Given the description of an element on the screen output the (x, y) to click on. 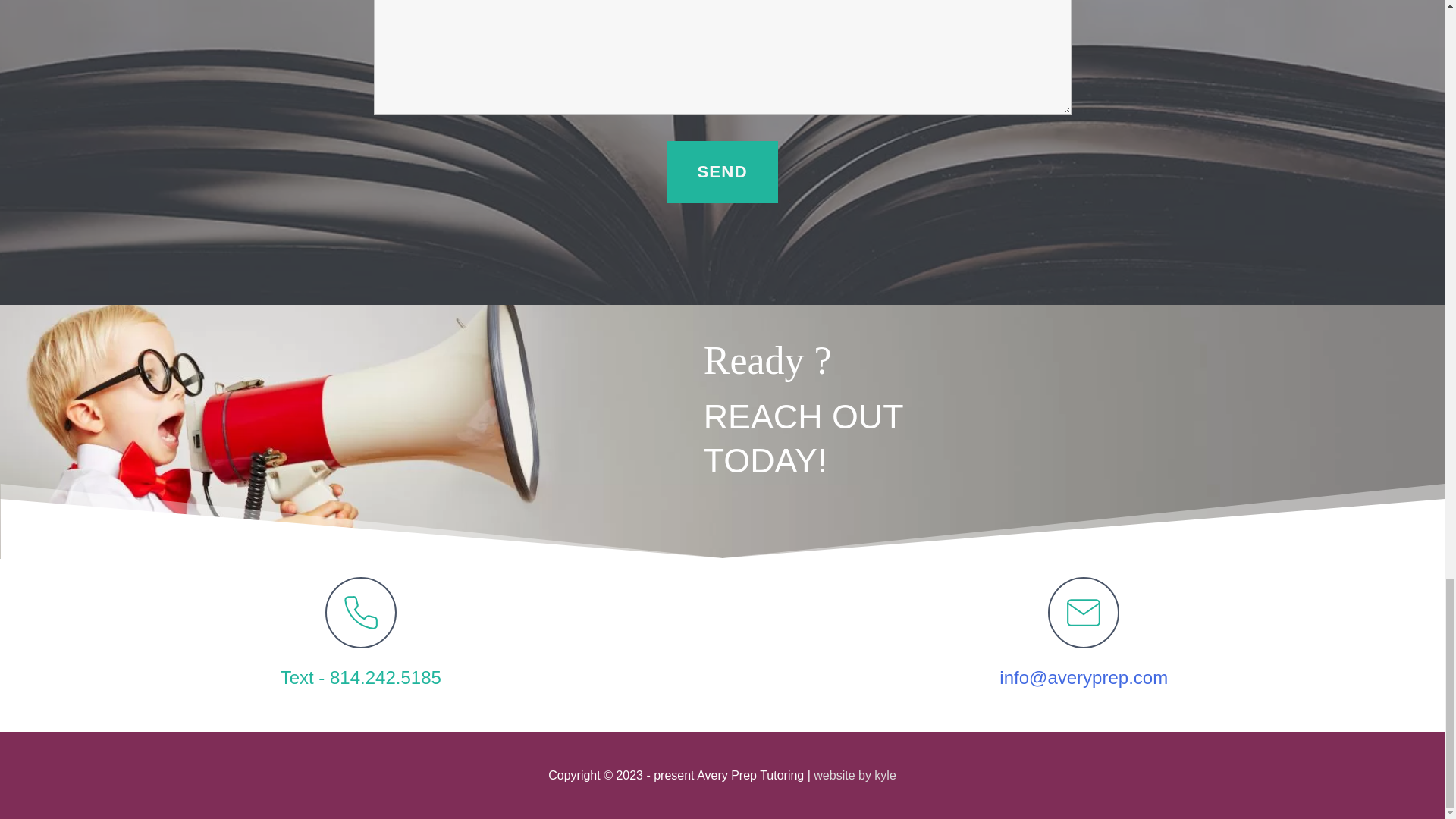
SEND (721, 171)
